Given the description of an element on the screen output the (x, y) to click on. 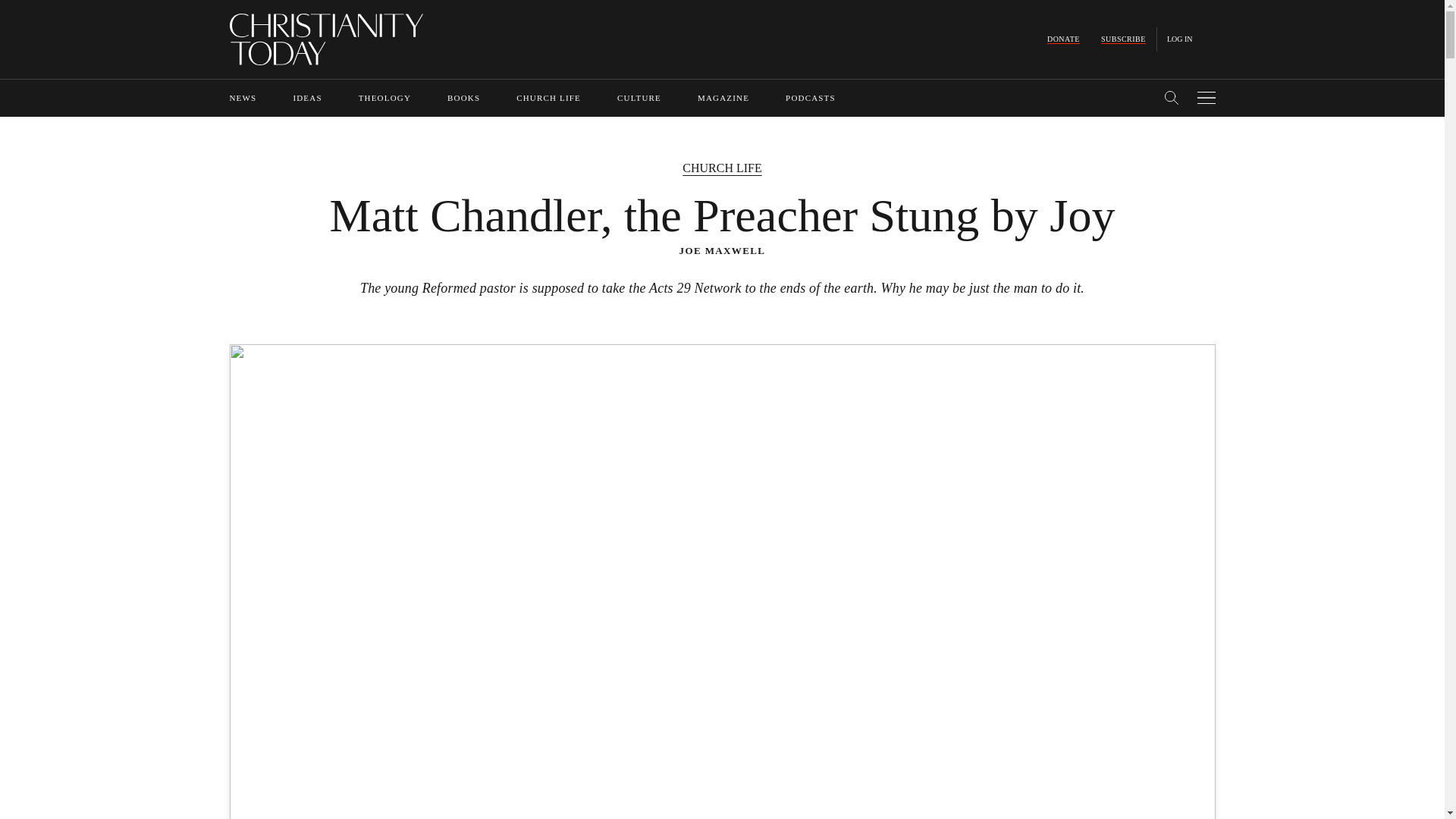
MAGAZINE (723, 97)
SUBSCRIBE (1122, 39)
CHURCH LIFE (548, 97)
IDEAS (306, 97)
BOOKS (463, 97)
DONATE (1063, 39)
LOG IN (1179, 39)
THEOLOGY (384, 97)
CULTURE (639, 97)
NEWS (242, 97)
